Given the description of an element on the screen output the (x, y) to click on. 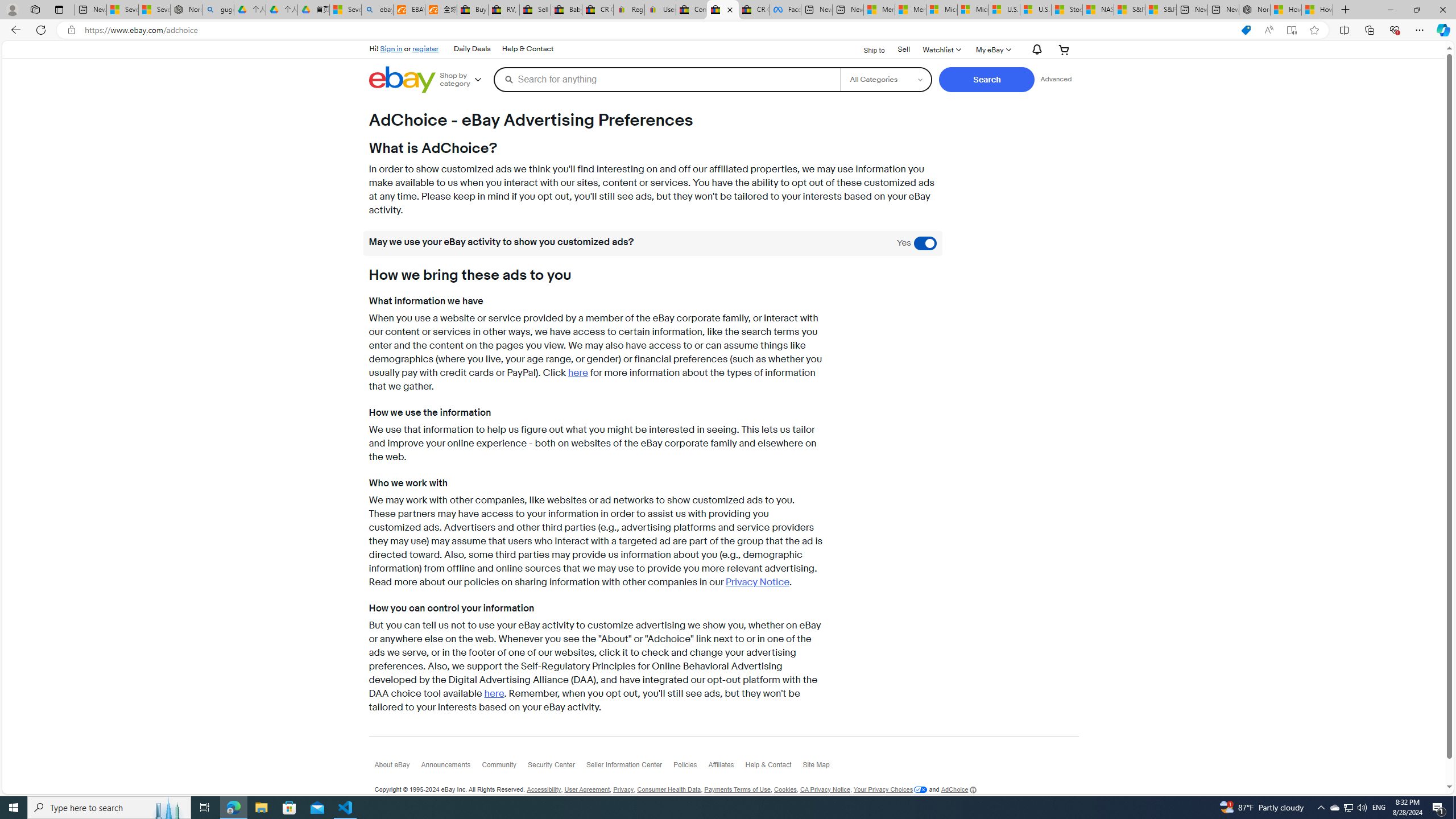
WatchlistExpand Watch List (940, 49)
Announcements (450, 767)
About eBay (397, 767)
Help & Contact (774, 767)
Seller Information Center (629, 767)
Your shopping cart (1064, 49)
Sign in (391, 48)
Daily Deals (472, 49)
Accessibility (544, 789)
